Given the description of an element on the screen output the (x, y) to click on. 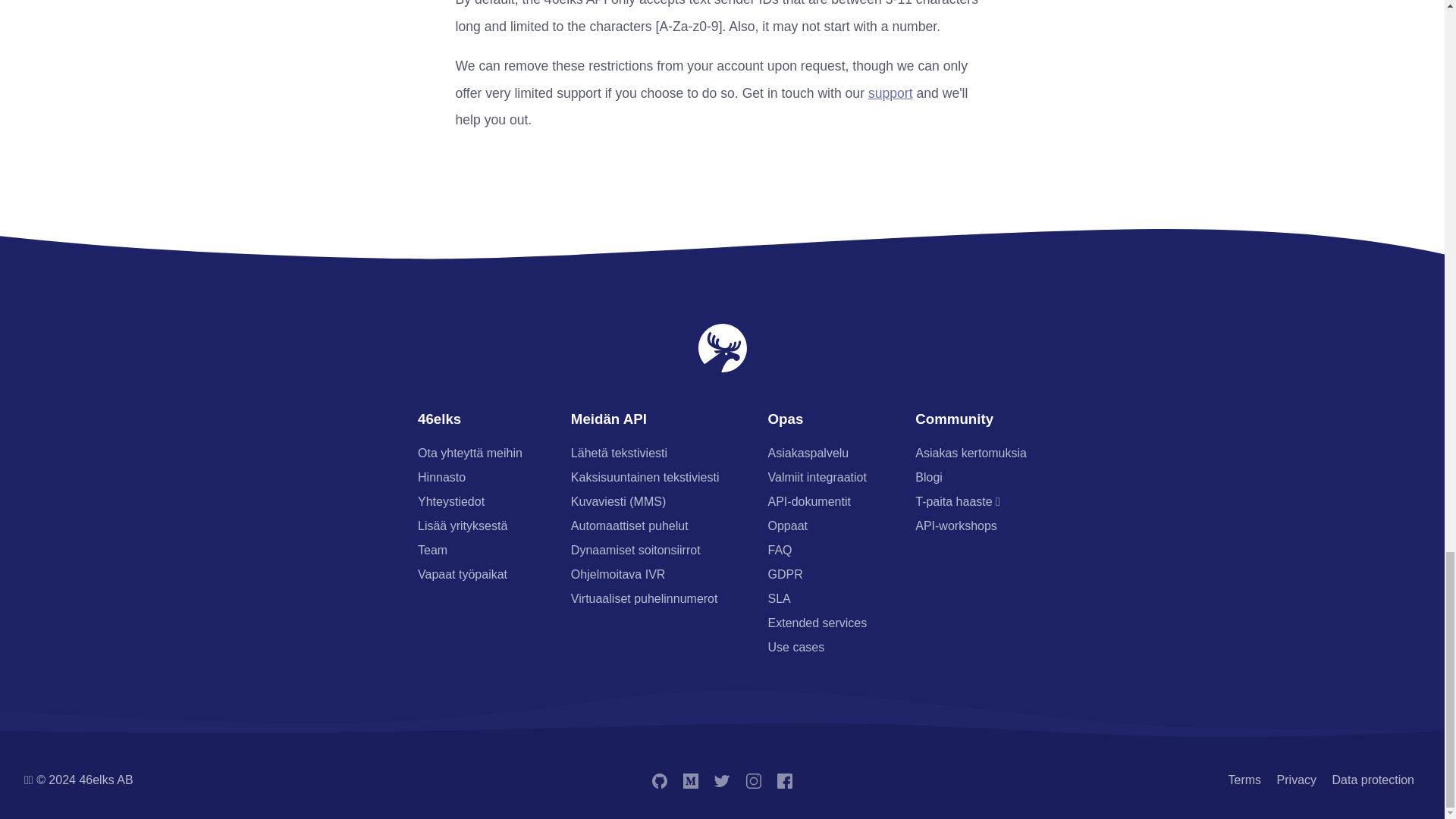
Link to team page (431, 549)
Link to API Reference (817, 477)
Link to job information (461, 574)
Link to pricing page (441, 477)
Link to Voice Product Information (629, 525)
Link to Guides and Tutorials (788, 525)
Link to Virtual Product Information (643, 598)
Link to information on 46elks (461, 525)
Frequently Asked Questions (780, 549)
Link to Call Forwarding Product Information (635, 549)
